Given the description of an element on the screen output the (x, y) to click on. 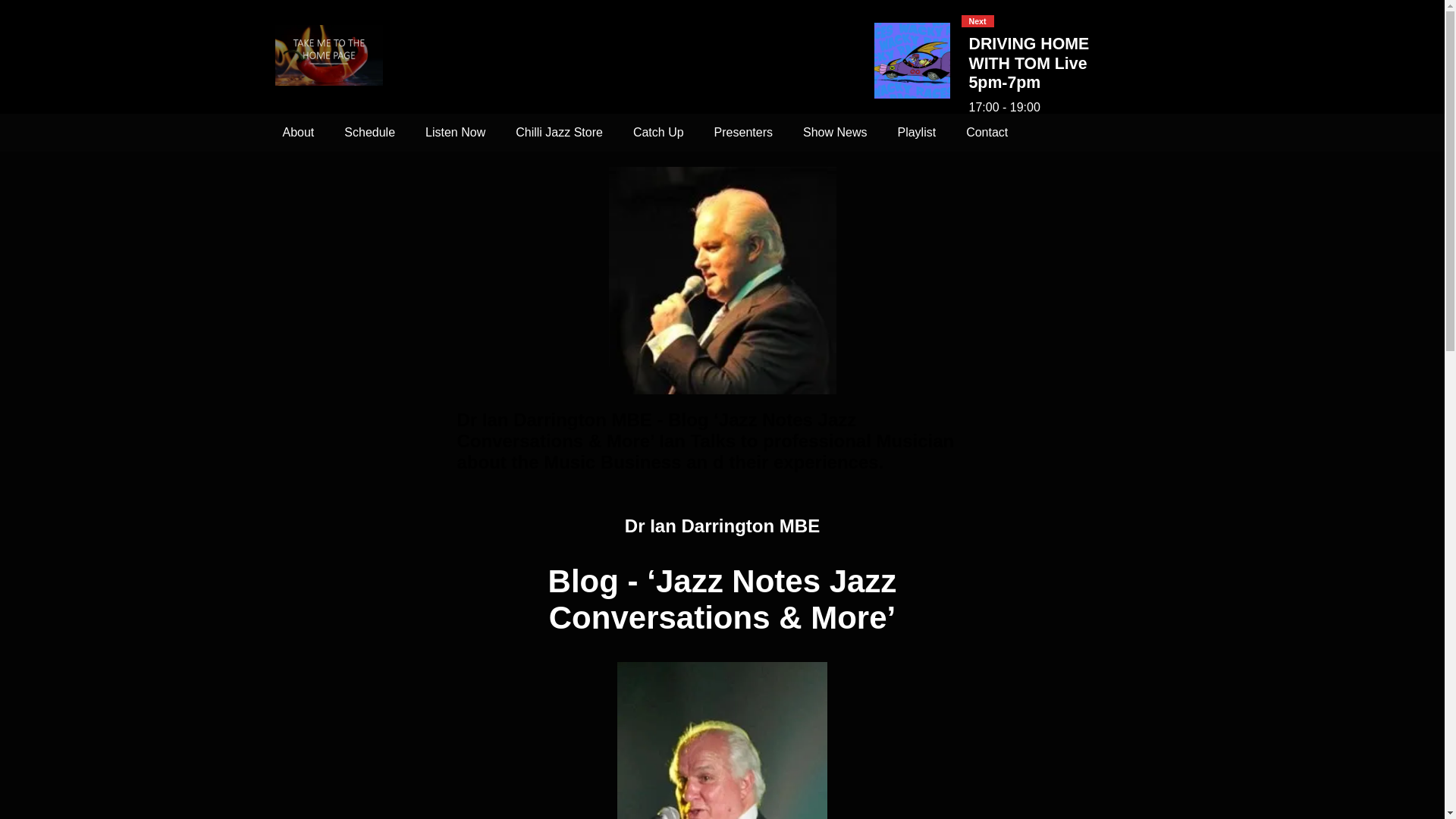
Schedule (369, 132)
About (297, 132)
Contact (986, 132)
Listen Now (455, 132)
Show News (834, 132)
Presenters (742, 132)
About (297, 132)
Catch Up (657, 132)
Catch Up (657, 132)
Chilli Jazz Store (558, 132)
Chilli Jazz Store (558, 132)
Listen Now (455, 132)
Show News (834, 132)
Schedule (369, 132)
Contact (986, 132)
